Given the description of an element on the screen output the (x, y) to click on. 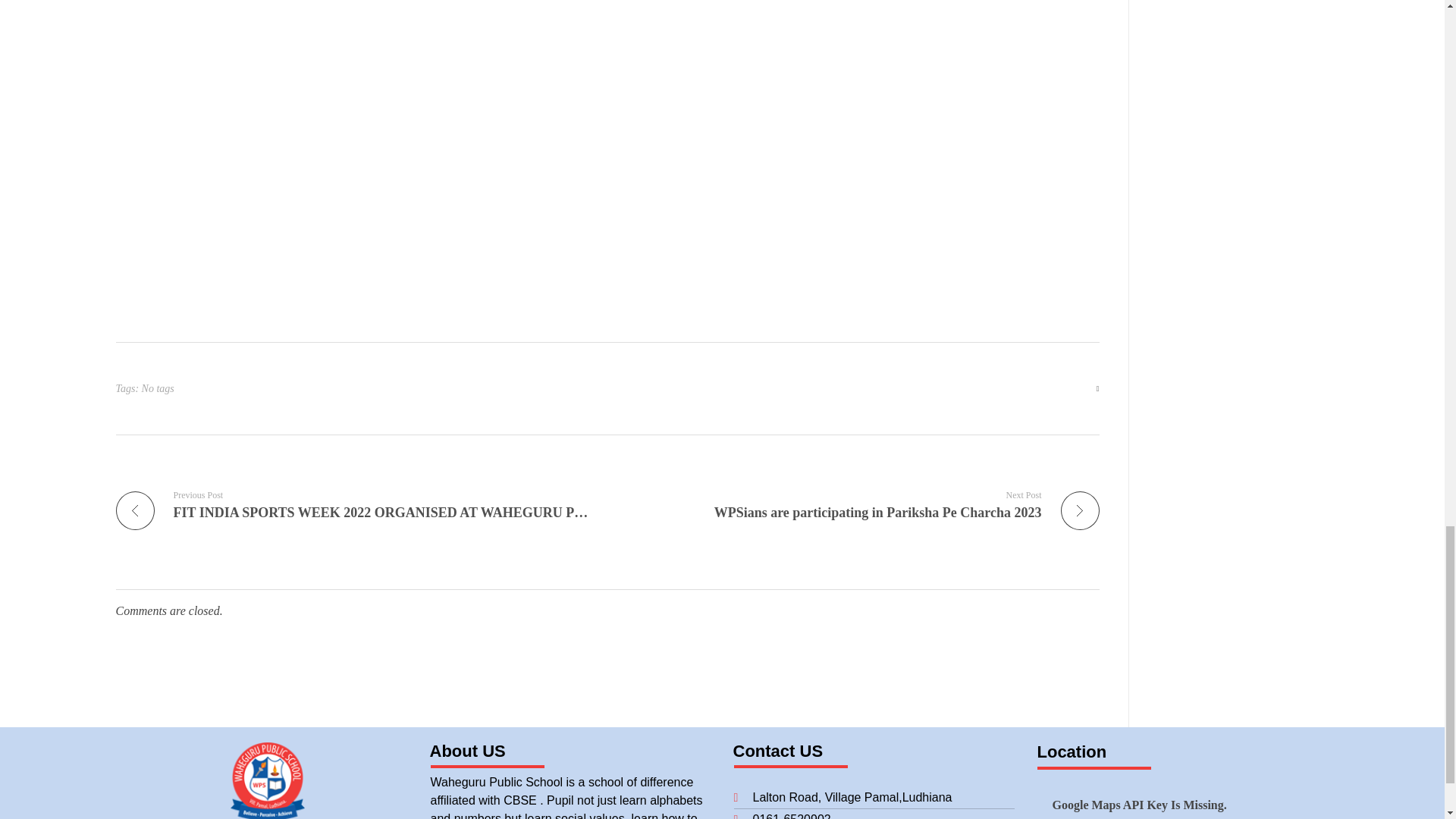
Lalton Road, Village Pamal,Ludhiana (873, 797)
0161-6520902 (873, 814)
